Given the description of an element on the screen output the (x, y) to click on. 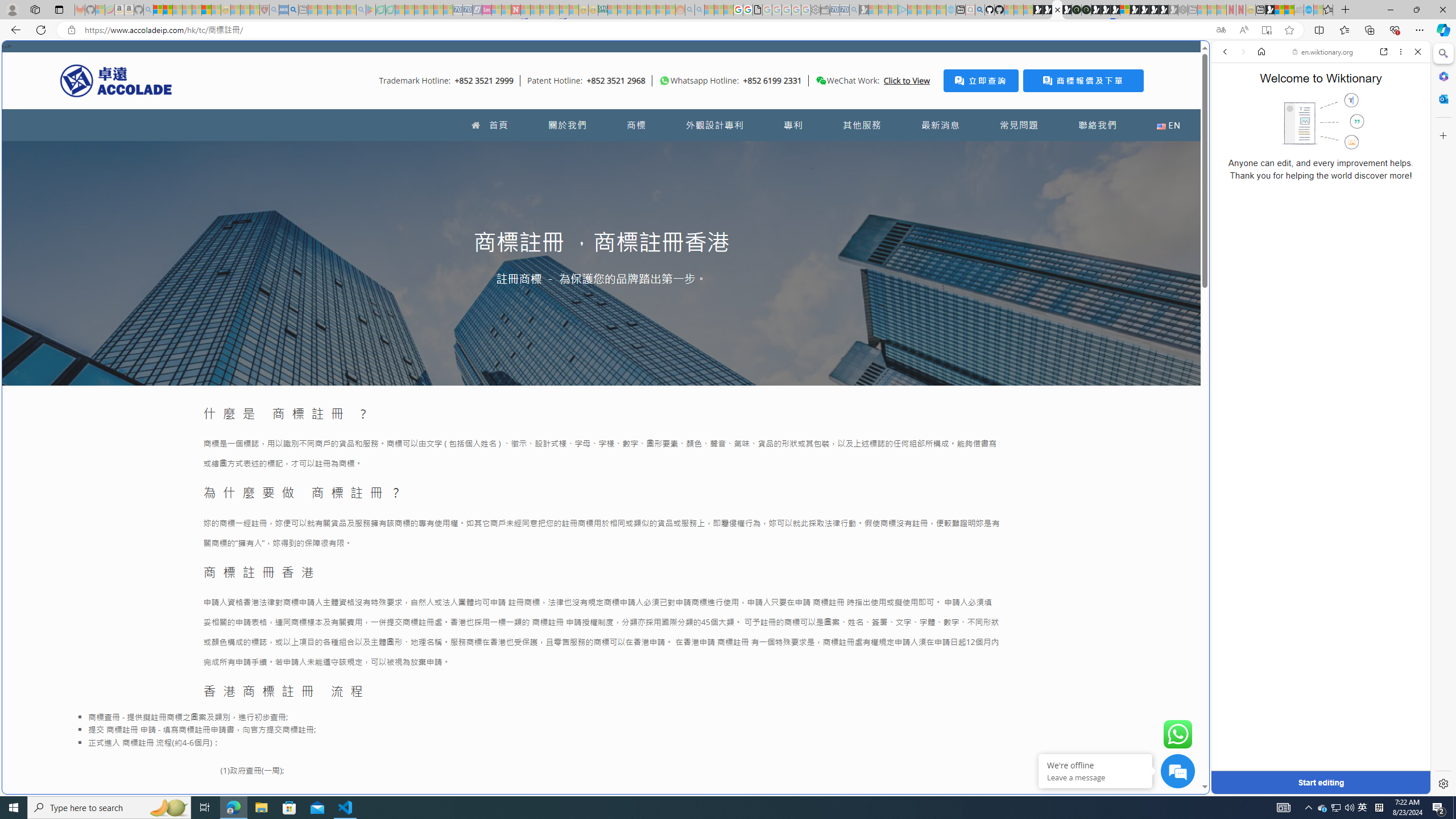
utah sues federal government - Search (922, 389)
Search Filter, IMAGES (1262, 129)
Terms of Use Agreement - Sleeping (380, 9)
Search the web (1326, 78)
Sign in to your account (1124, 9)
Web scope (1230, 102)
Forward (1242, 51)
EN (1168, 124)
